Given the description of an element on the screen output the (x, y) to click on. 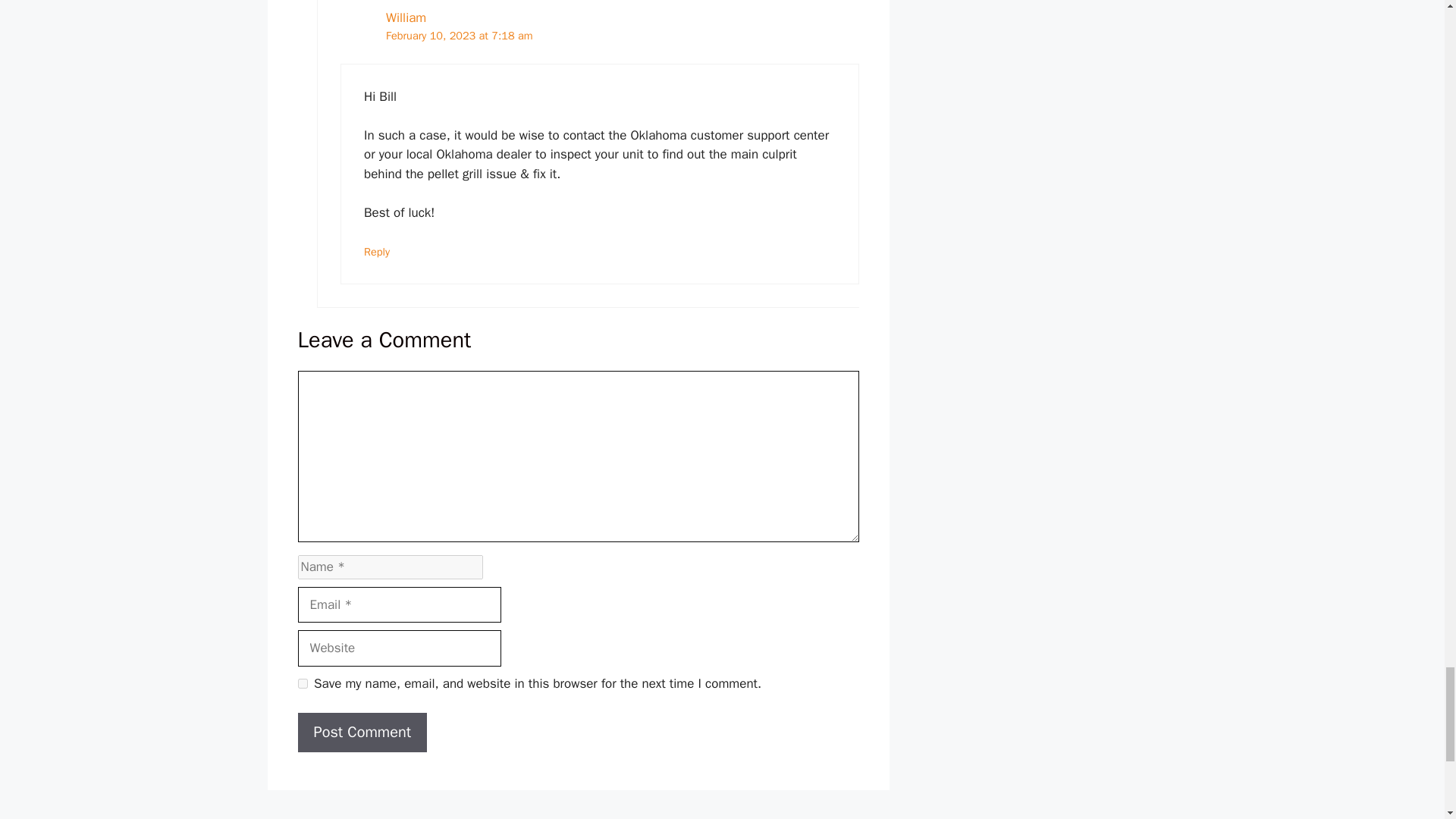
Post Comment (361, 732)
yes (302, 683)
